Given the description of an element on the screen output the (x, y) to click on. 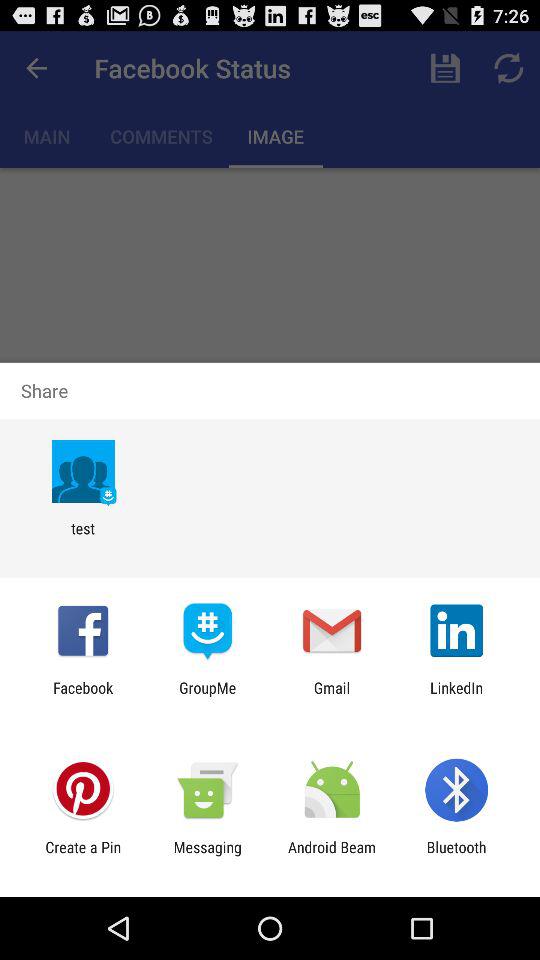
tap the icon next to messaging app (332, 856)
